Given the description of an element on the screen output the (x, y) to click on. 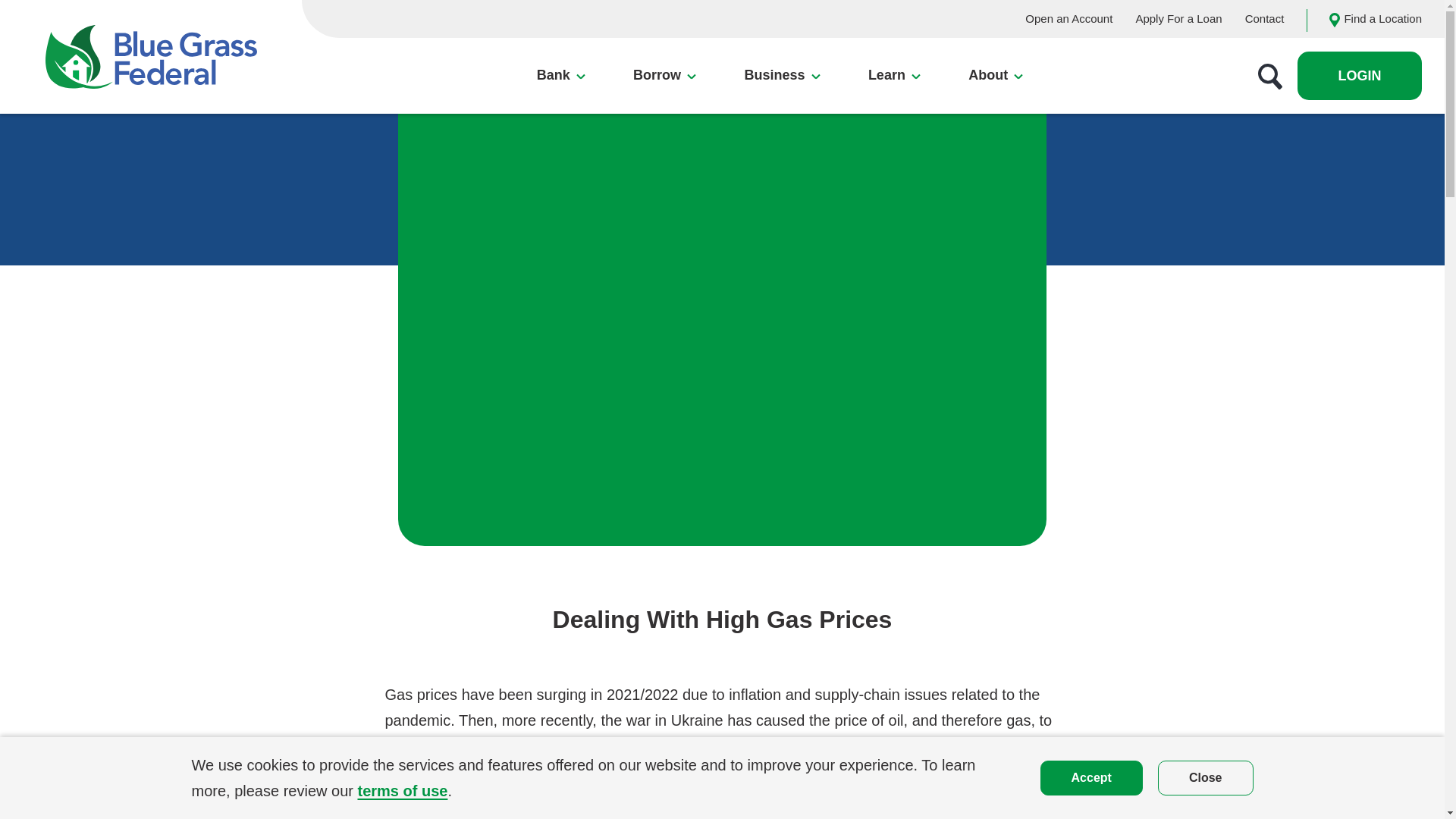
Accept (1091, 777)
Go (1319, 235)
Mortgage Loan Originators (378, 204)
Business (781, 75)
Search (1269, 75)
Visit Us (410, 297)
Types of Mortgage Loans (375, 175)
Certificates of Deposit (664, 150)
Apply For a Loan (1178, 18)
terms of use (401, 790)
Sign in (1359, 75)
Homeownership Resources (598, 258)
Contact (1264, 18)
Business Savings (414, 187)
Mobile Banking (595, 213)
